Given the description of an element on the screen output the (x, y) to click on. 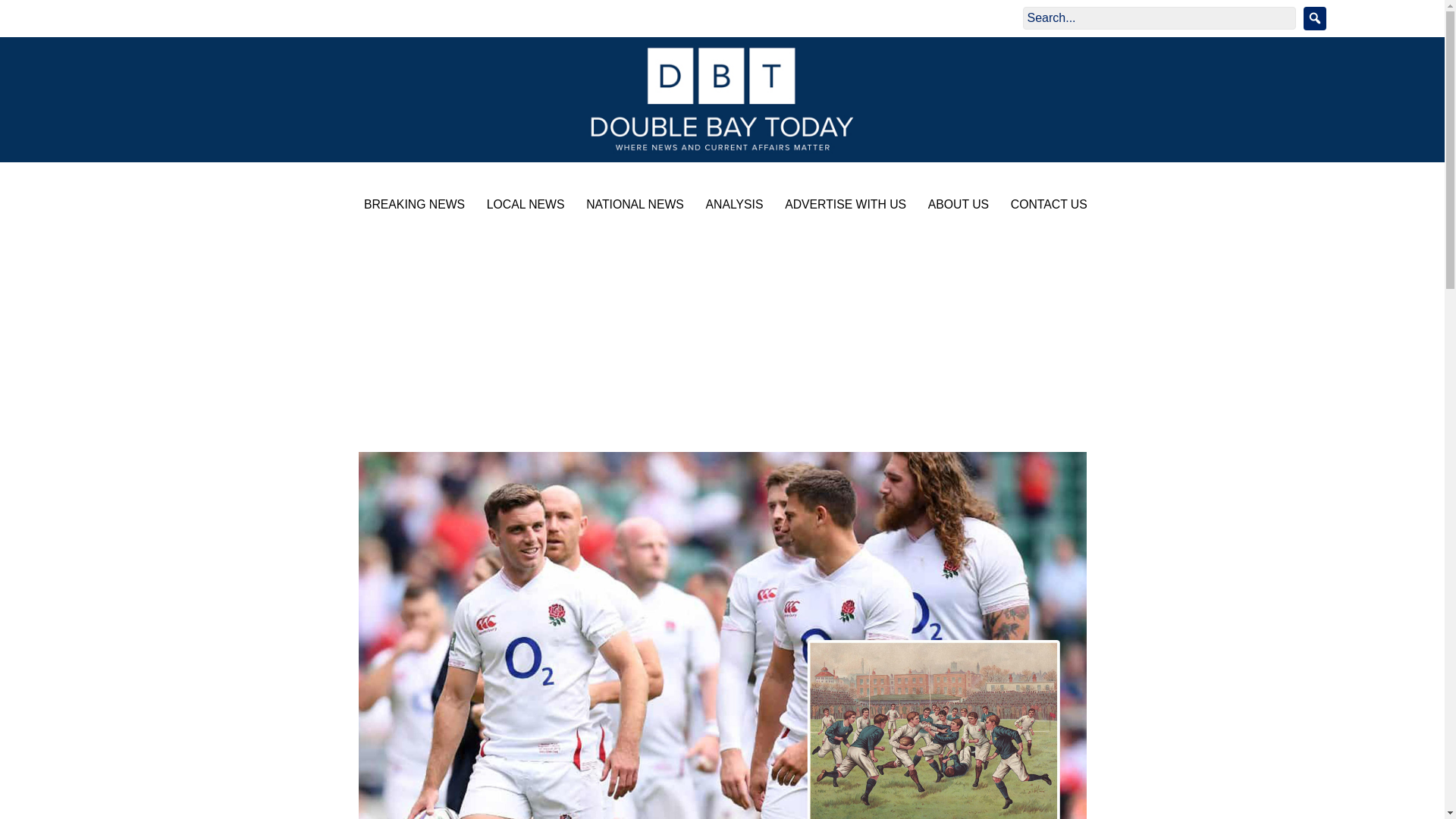
ABOUT US (954, 206)
LOCAL NEWS (521, 206)
DBTLOGOretina (721, 99)
NATIONAL NEWS (631, 206)
BREAKING NEWS (410, 206)
ANALYSIS (731, 206)
ADVERTISE WITH US (842, 206)
CONTACT US (1044, 206)
